Given the description of an element on the screen output the (x, y) to click on. 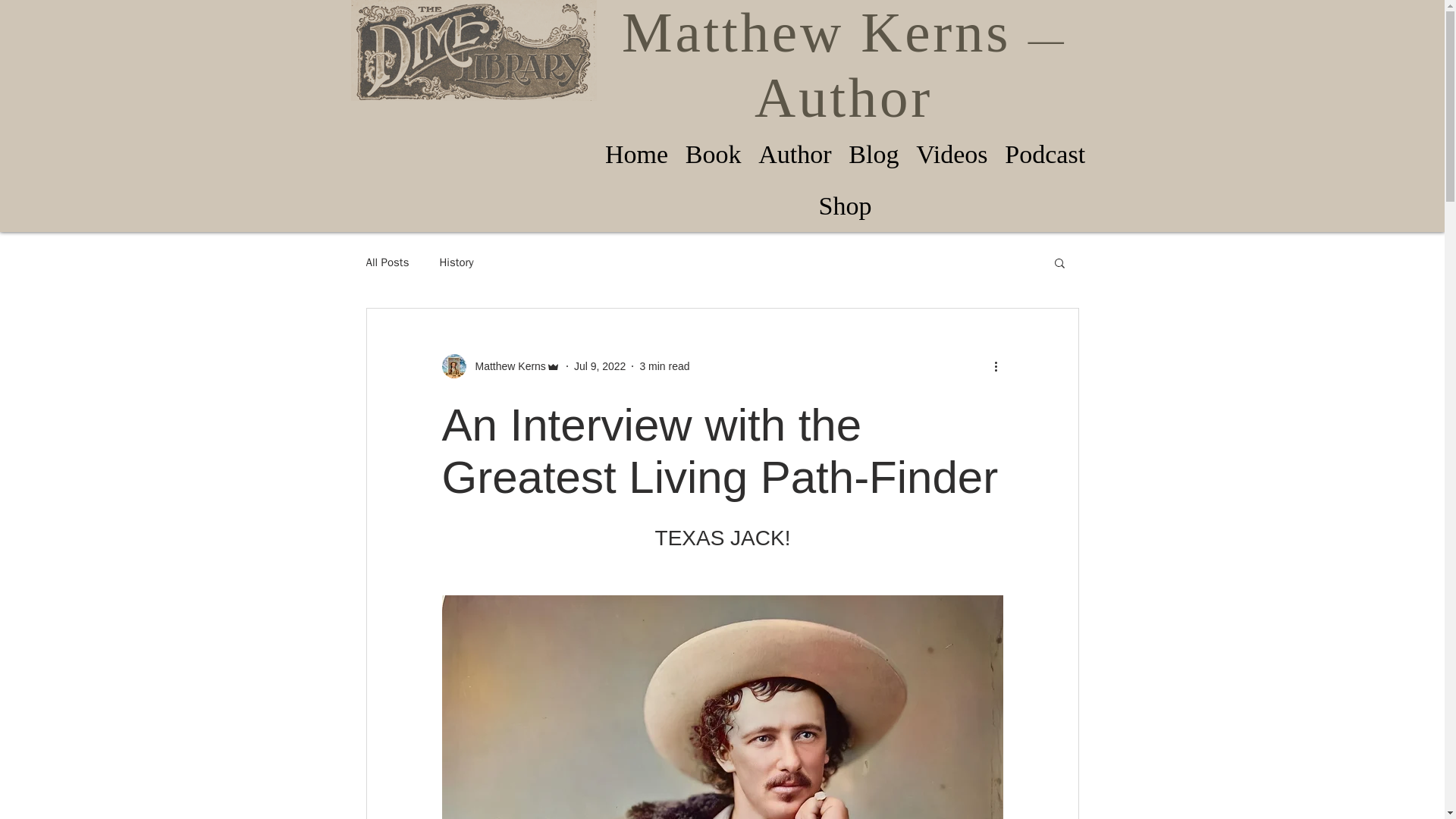
Videos (951, 155)
Shop (844, 207)
History (456, 261)
Book (713, 155)
Blog (873, 155)
All Posts (387, 261)
Matthew Kerns (504, 365)
Home (636, 155)
Jul 9, 2022 (599, 365)
Podcast (1044, 155)
